Given the description of an element on the screen output the (x, y) to click on. 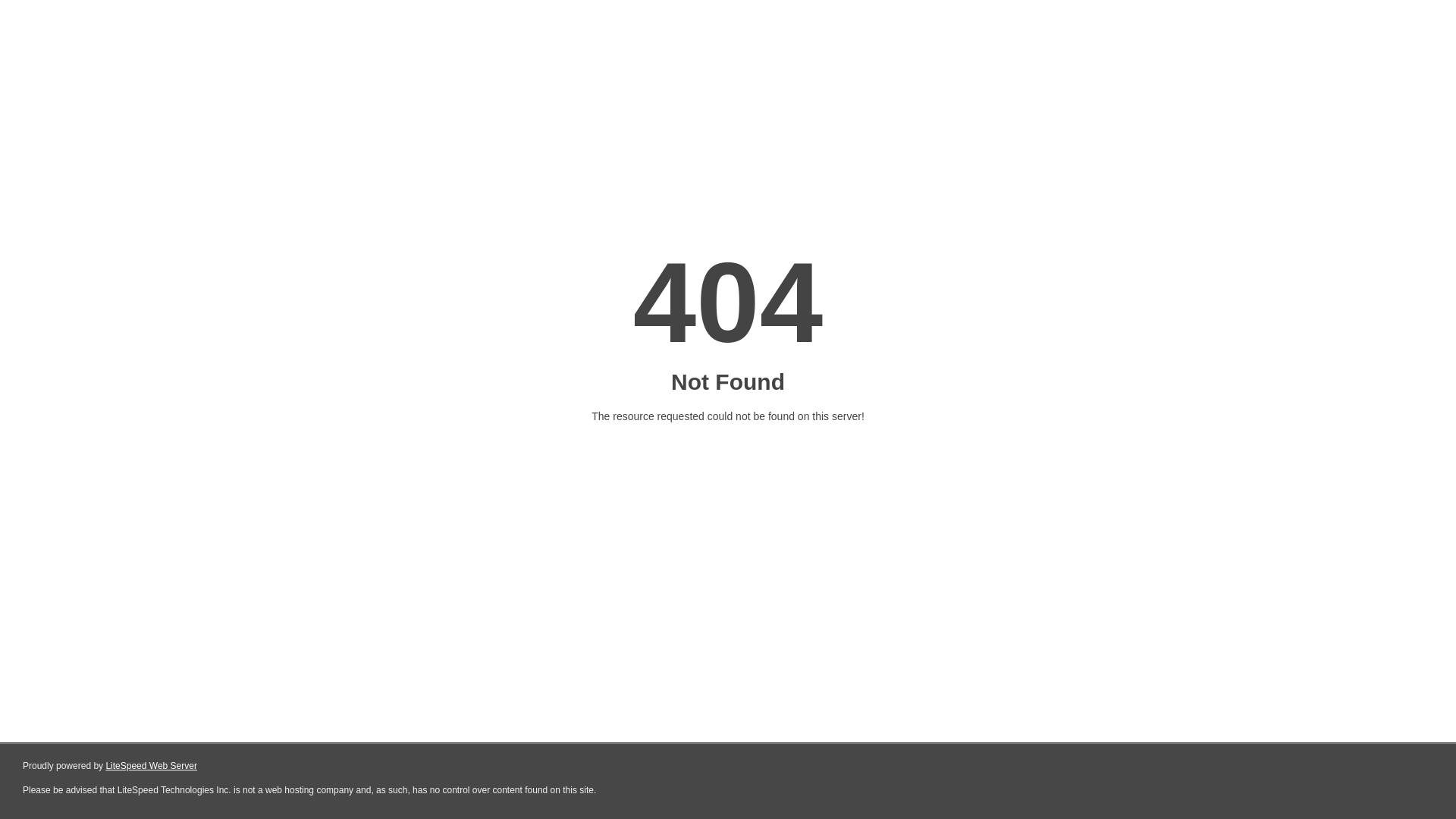
LiteSpeed Web Server Element type: text (151, 765)
